Given the description of an element on the screen output the (x, y) to click on. 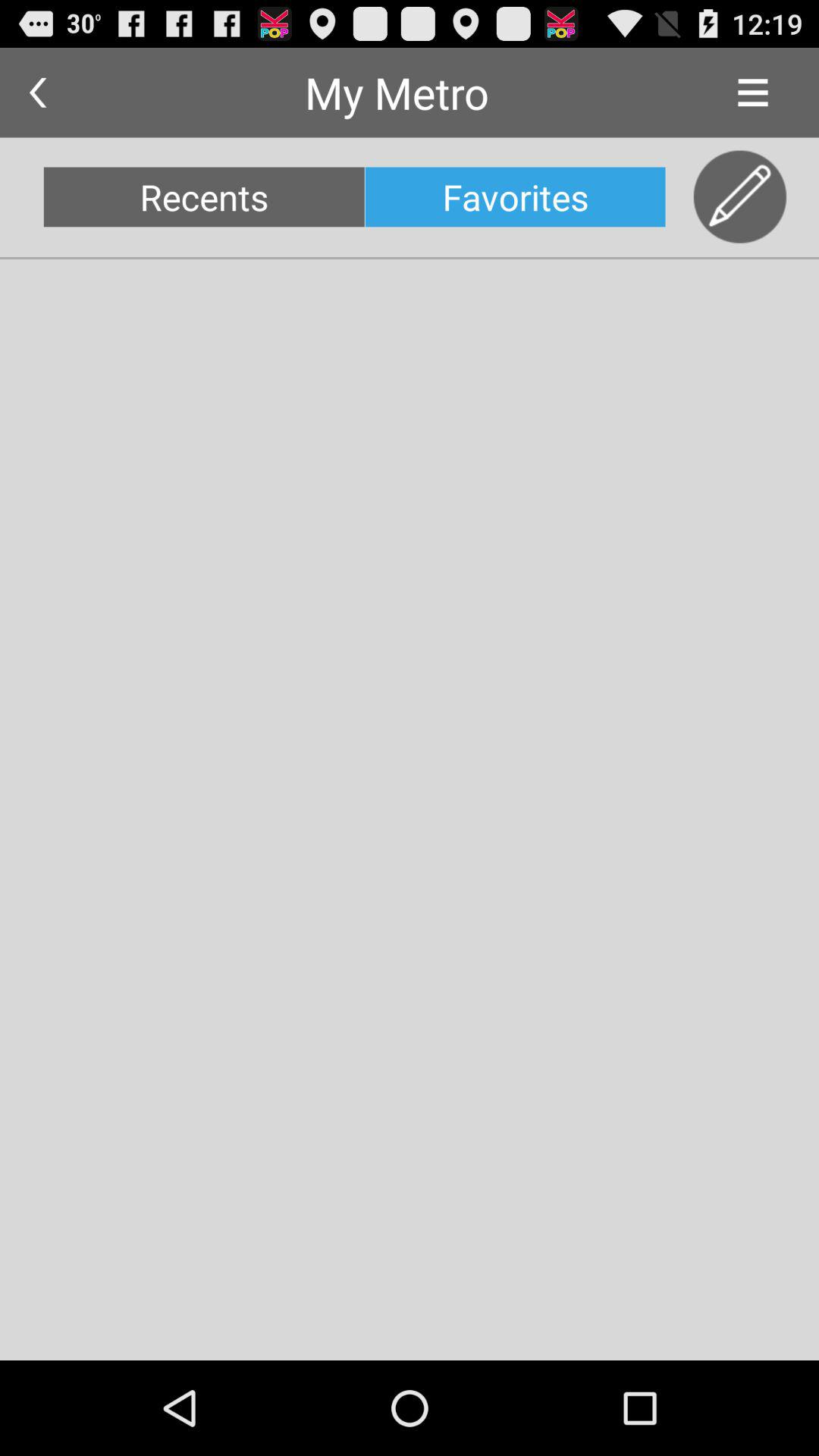
swipe until the favorites icon (515, 196)
